Given the description of an element on the screen output the (x, y) to click on. 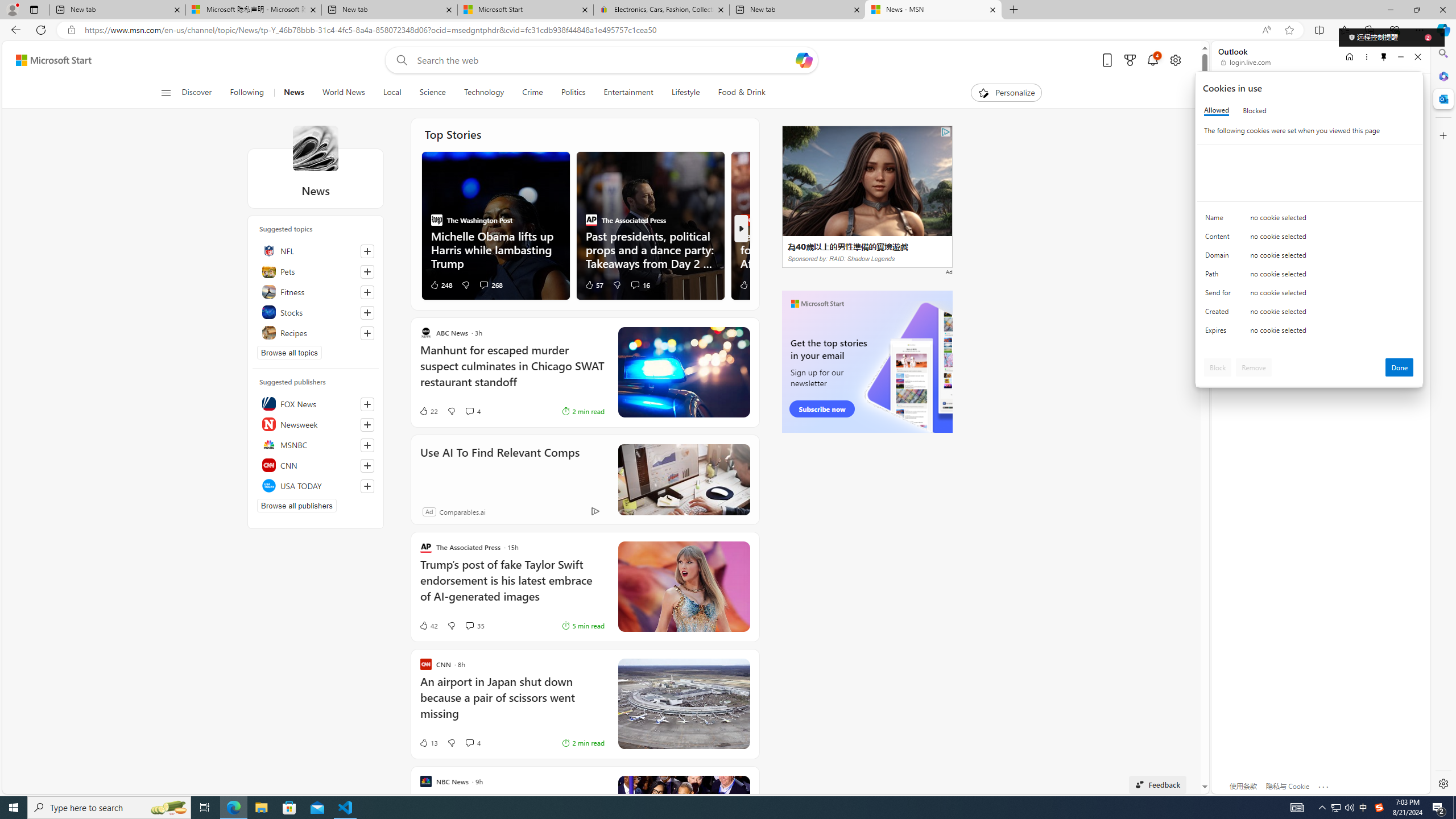
Block (1217, 367)
World News (343, 92)
Follow this topic (367, 333)
Open settings (1175, 60)
Web search (398, 60)
View comments 268 Comment (490, 284)
Food & Drink (737, 92)
Feedback (1157, 784)
Fitness (315, 291)
View comments 4 Comment (472, 742)
Use AI To Find Relevant CompsAdComparables.ai (585, 479)
